Given the description of an element on the screen output the (x, y) to click on. 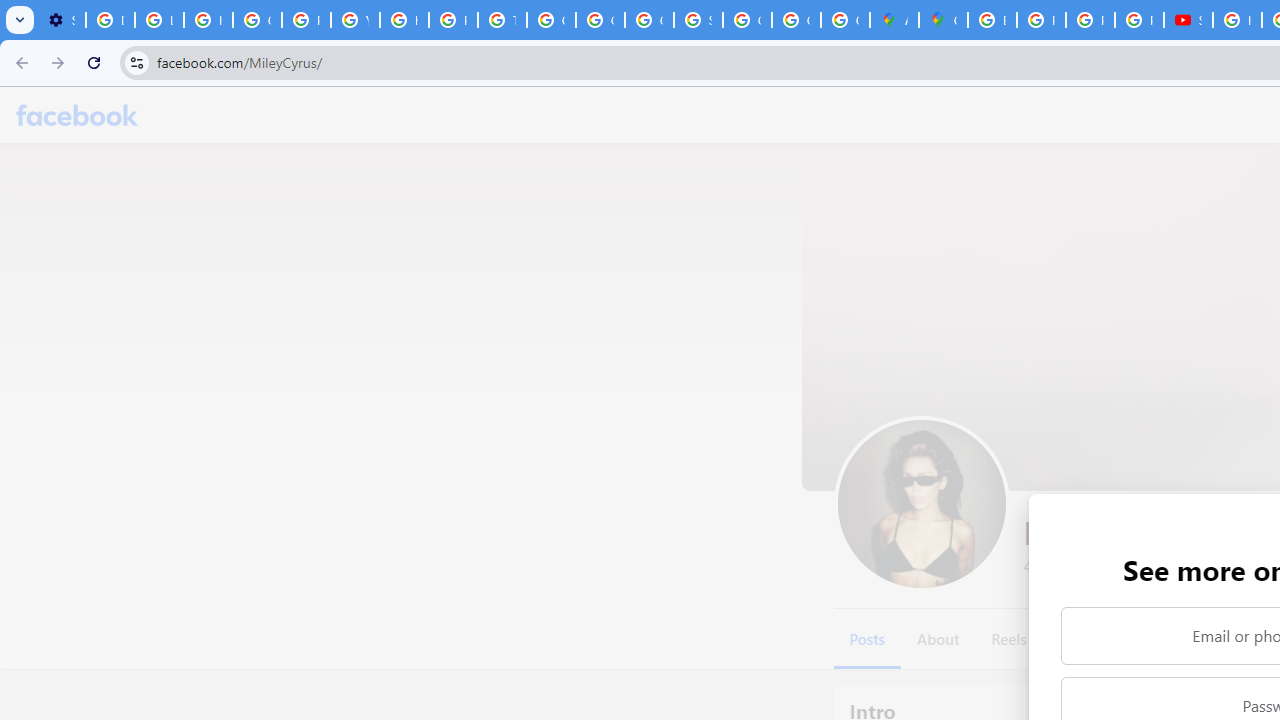
Privacy Help Center - Policies Help (452, 20)
Privacy Help Center - Policies Help (306, 20)
Subscriptions - YouTube (1188, 20)
Google Account Help (257, 20)
Blogger Policies and Guidelines - Transparency Center (992, 20)
How Chrome protects your passwords - Google Chrome Help (1237, 20)
Privacy Help Center - Policies Help (1041, 20)
